Given the description of an element on the screen output the (x, y) to click on. 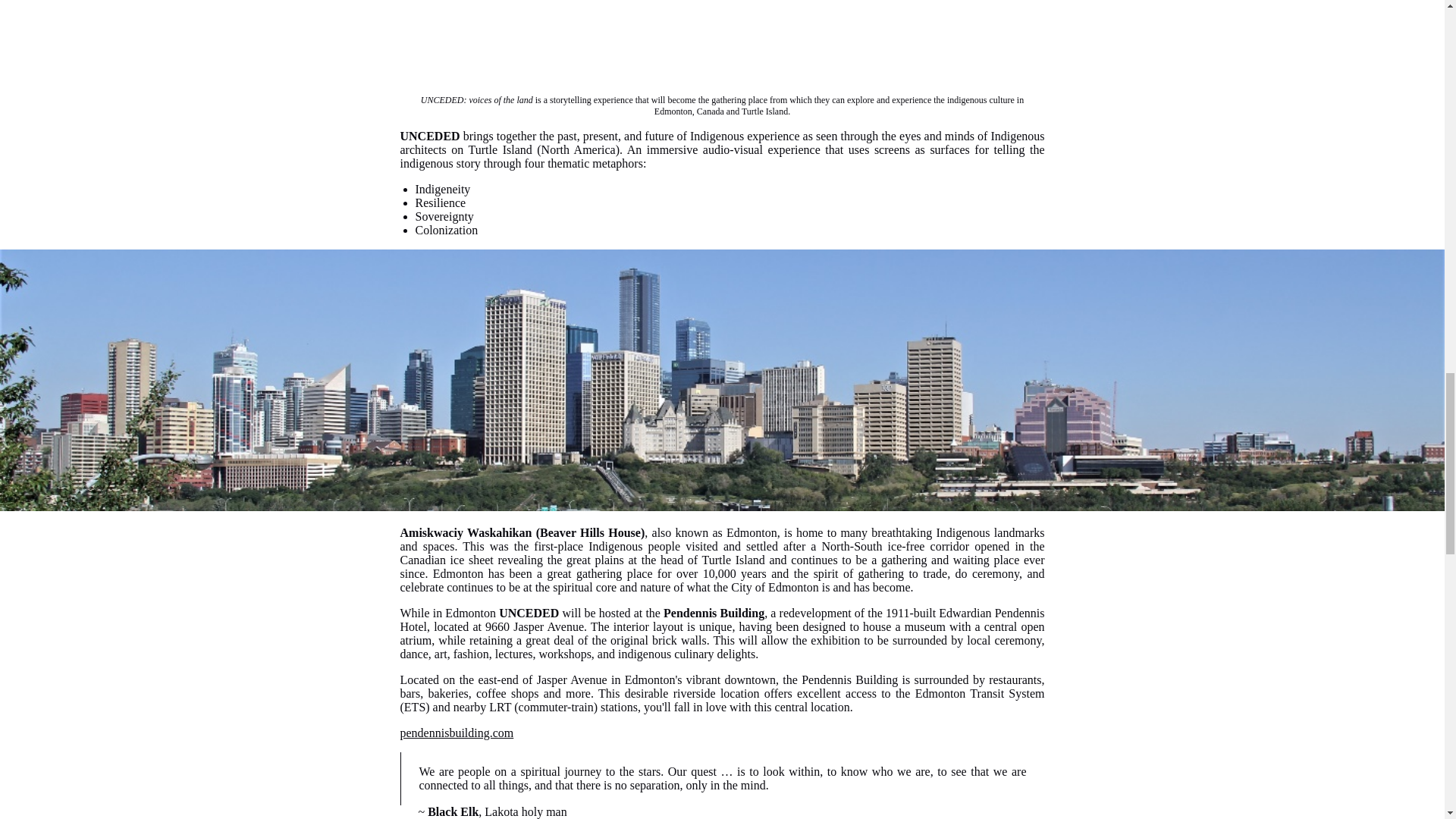
pendennisbuilding.com (456, 732)
